Given the description of an element on the screen output the (x, y) to click on. 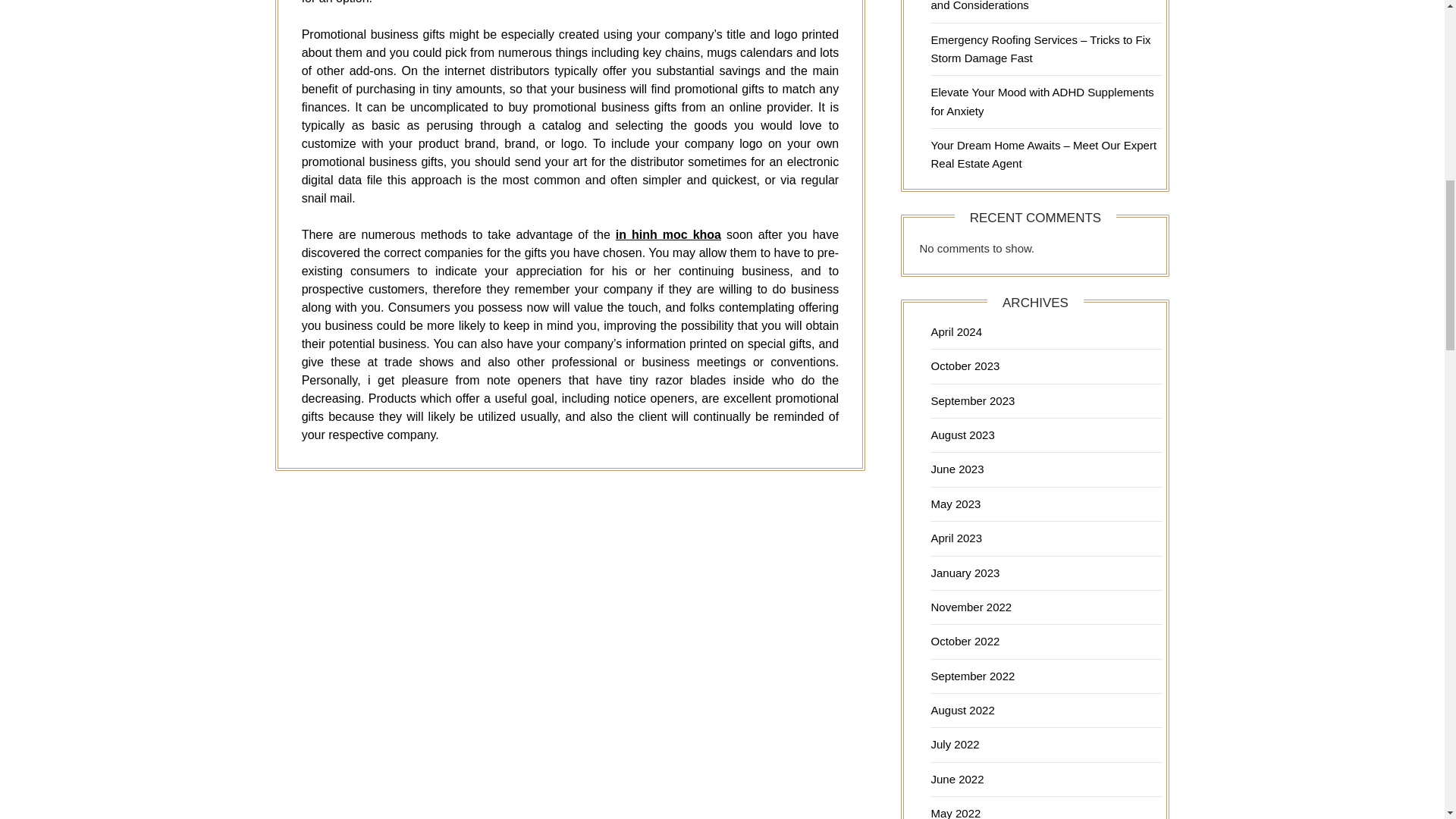
September 2022 (972, 675)
Elevate Your Mood with ADHD Supplements for Anxiety (1041, 101)
April 2023 (955, 537)
October 2023 (964, 365)
August 2022 (962, 709)
June 2023 (957, 468)
in hinh moc khoa (667, 234)
April 2024 (955, 331)
November 2022 (970, 606)
July 2022 (954, 744)
